Given the description of an element on the screen output the (x, y) to click on. 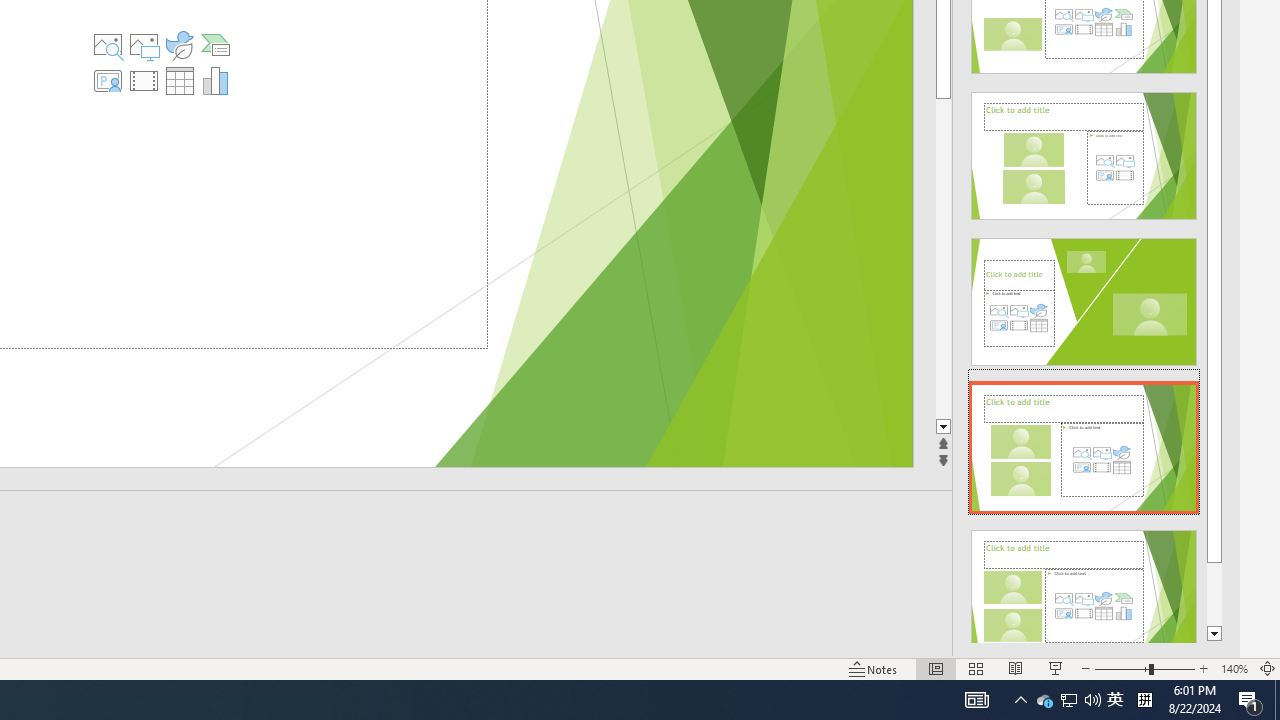
Zoom 140% (1234, 668)
